Given the description of an element on the screen output the (x, y) to click on. 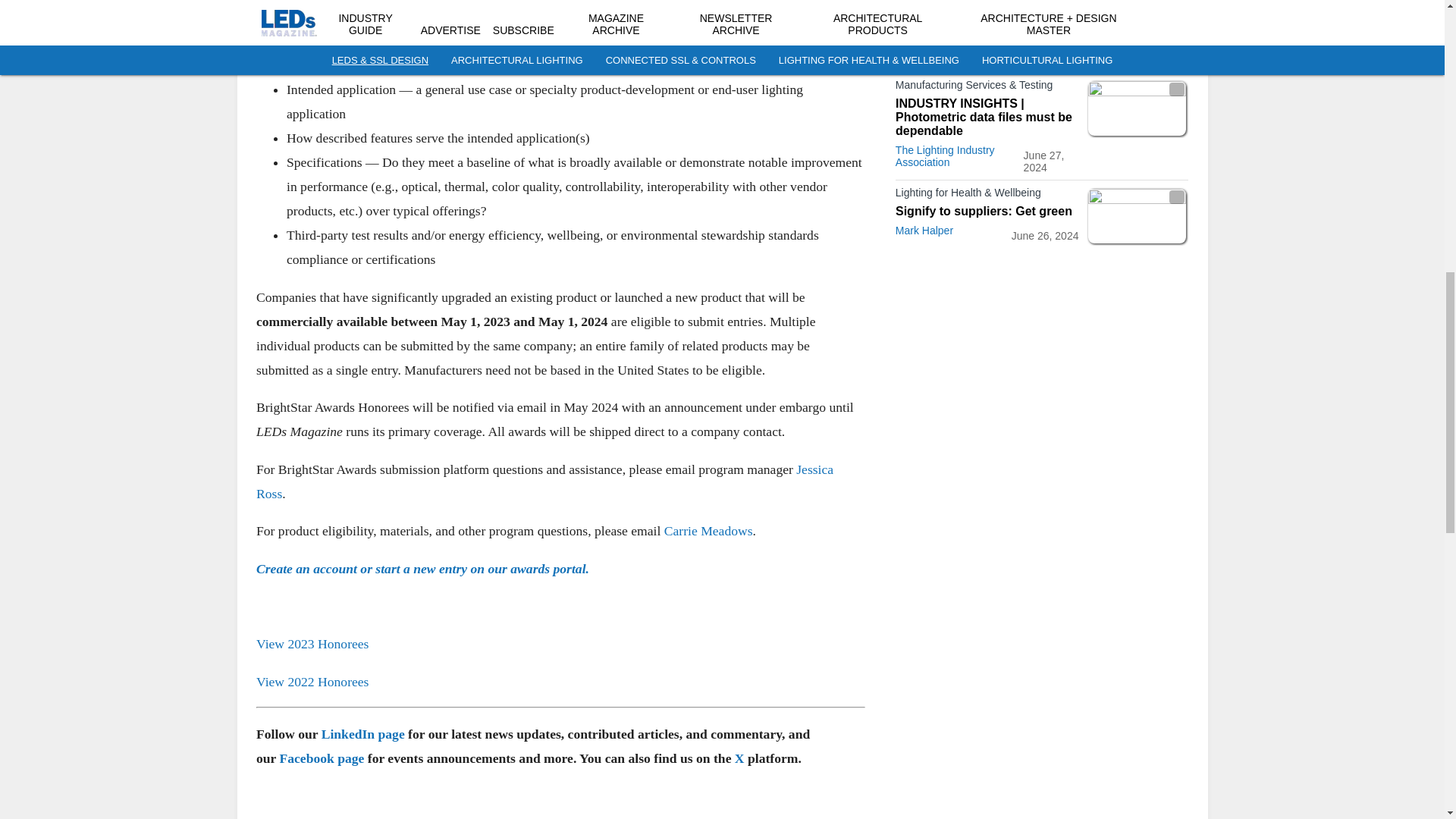
View 2023 Honorees (312, 643)
Jessica Ross (544, 481)
Facebook page (321, 758)
Carrie Meadows (707, 530)
LinkedIn page (362, 734)
View 2022 Honorees (312, 681)
Create an account or start a new entry on our awards portal. (422, 568)
